Given the description of an element on the screen output the (x, y) to click on. 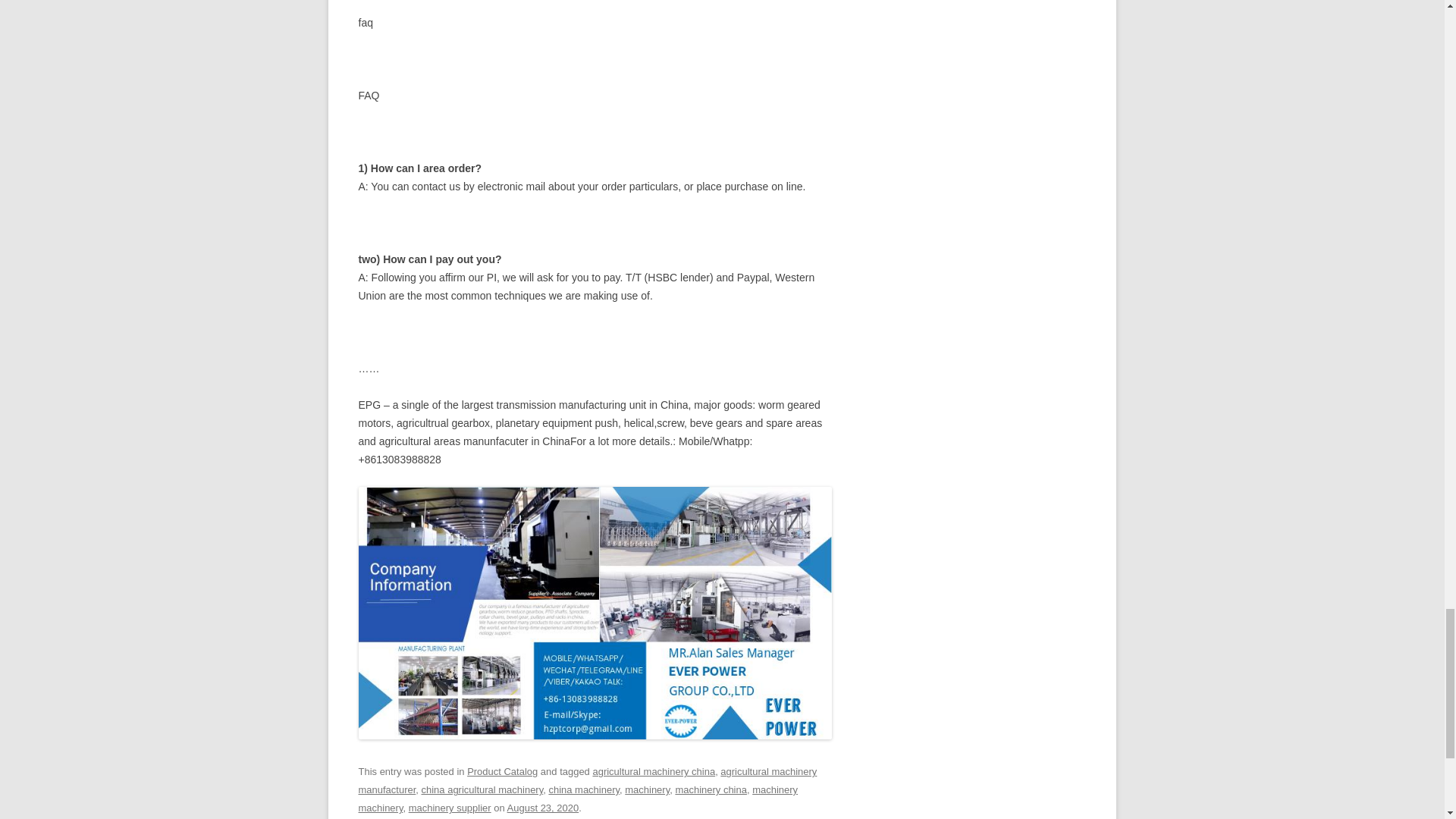
china agricultural machinery (482, 789)
agricultural machinery china (653, 771)
machinery machinery (577, 798)
agricultural machinery manufacturer (587, 780)
machinery (646, 789)
August 23, 2020 (542, 808)
Product Catalog (502, 771)
machinery china (710, 789)
machinery supplier (450, 808)
china machinery (584, 789)
10:07 pm (542, 808)
